Given the description of an element on the screen output the (x, y) to click on. 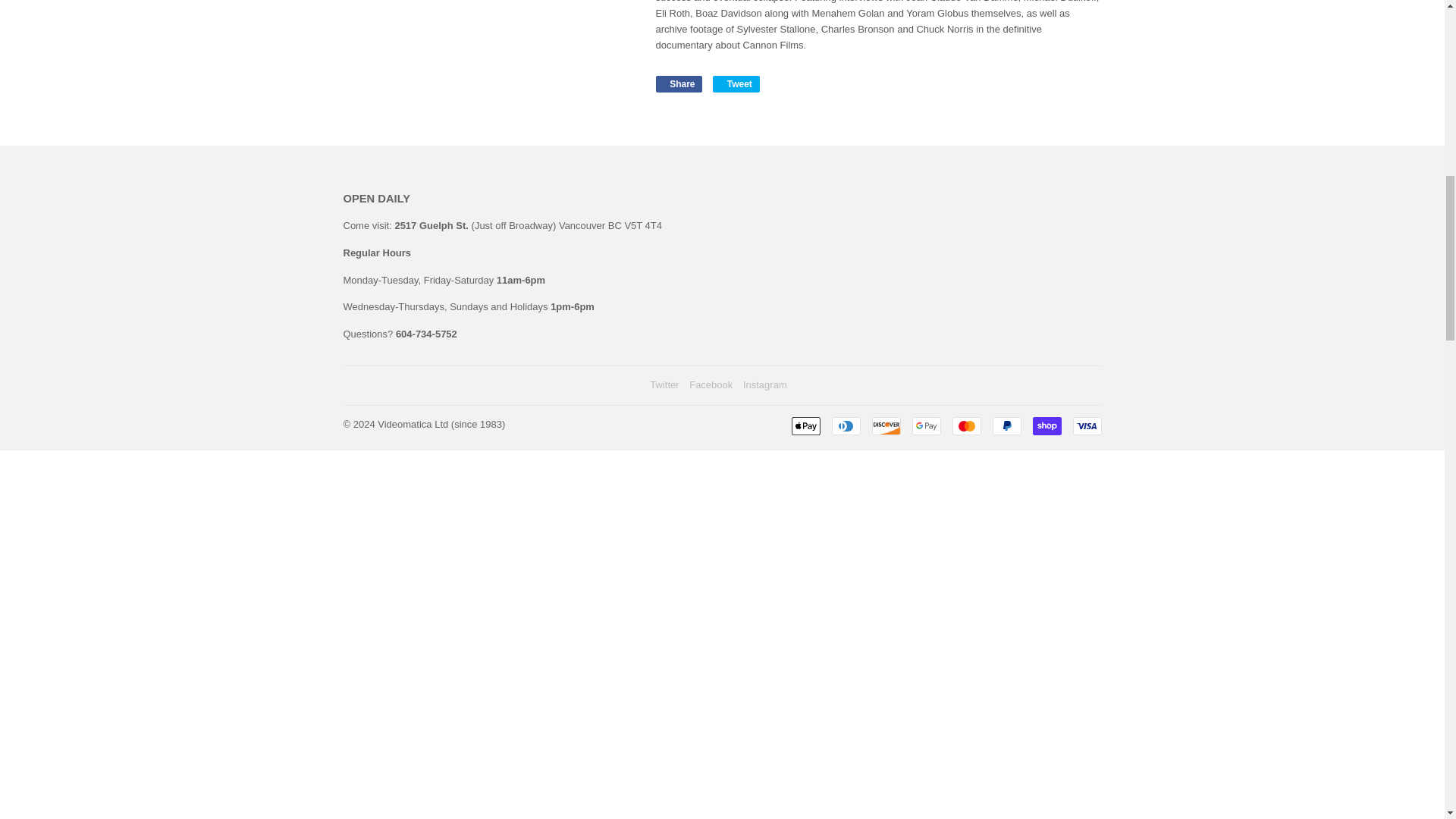
PayPal (1005, 425)
Google Pay (925, 425)
Discover (886, 425)
Shop Pay (1046, 425)
Diners Club (845, 425)
Tweet on Twitter (736, 84)
Apple Pay (806, 425)
Visa (1085, 425)
Share on Facebook (678, 84)
Mastercard (966, 425)
